Given the description of an element on the screen output the (x, y) to click on. 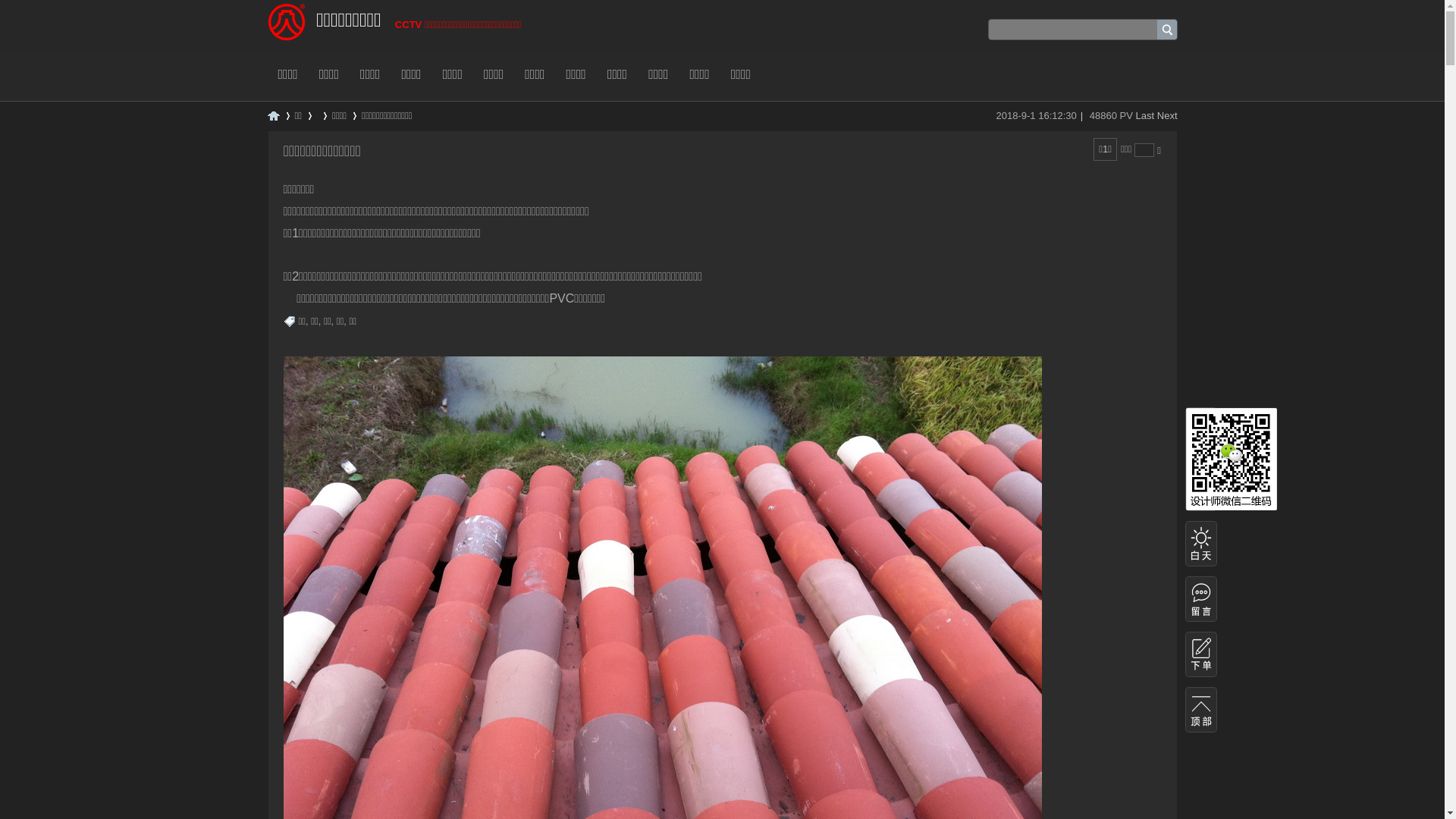
true Element type: text (1166, 29)
Last Element type: text (1144, 115)
Next Element type: text (1167, 115)
